Given the description of an element on the screen output the (x, y) to click on. 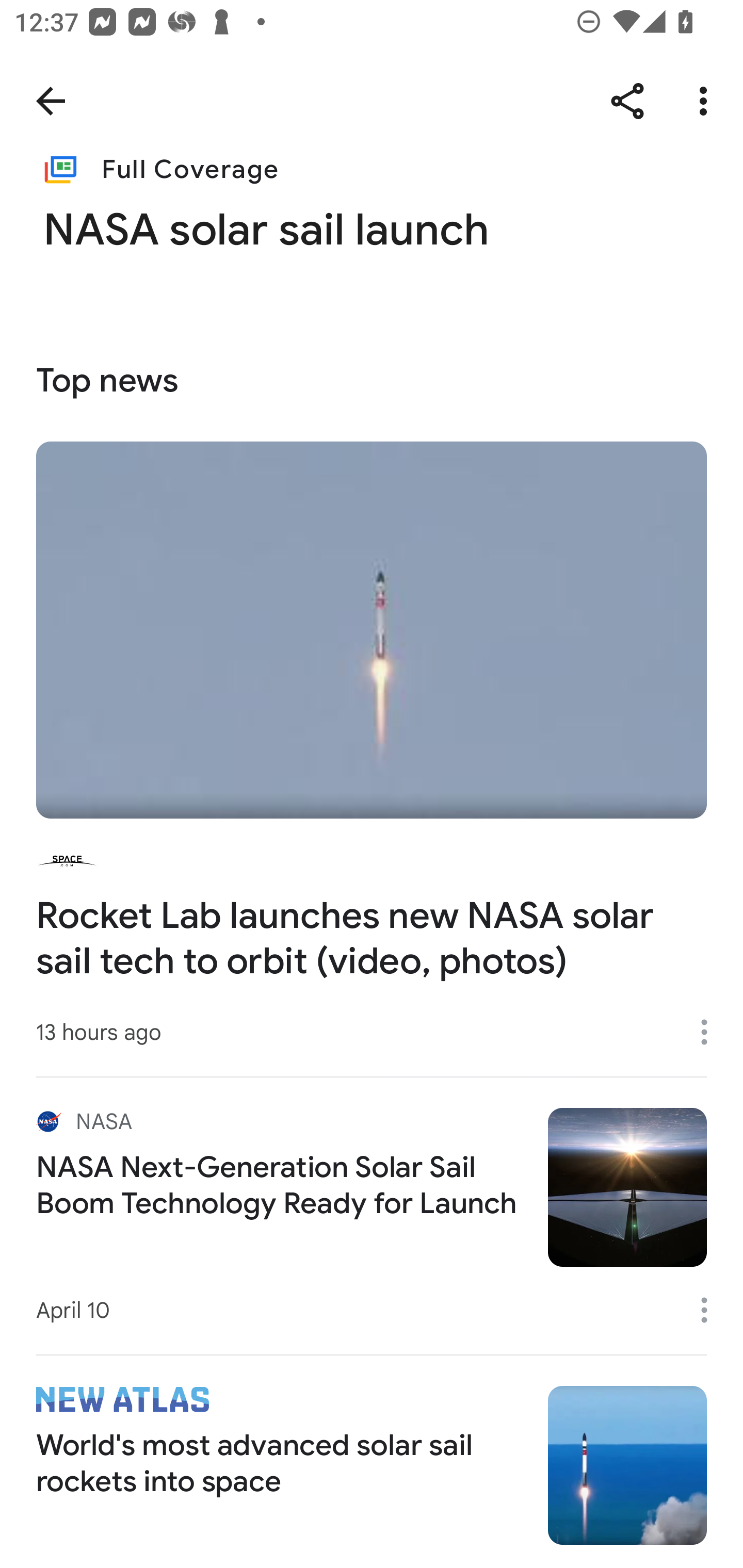
Navigate up (50, 101)
Share (626, 101)
More options (706, 101)
More options (711, 1032)
More options (711, 1309)
